Given the description of an element on the screen output the (x, y) to click on. 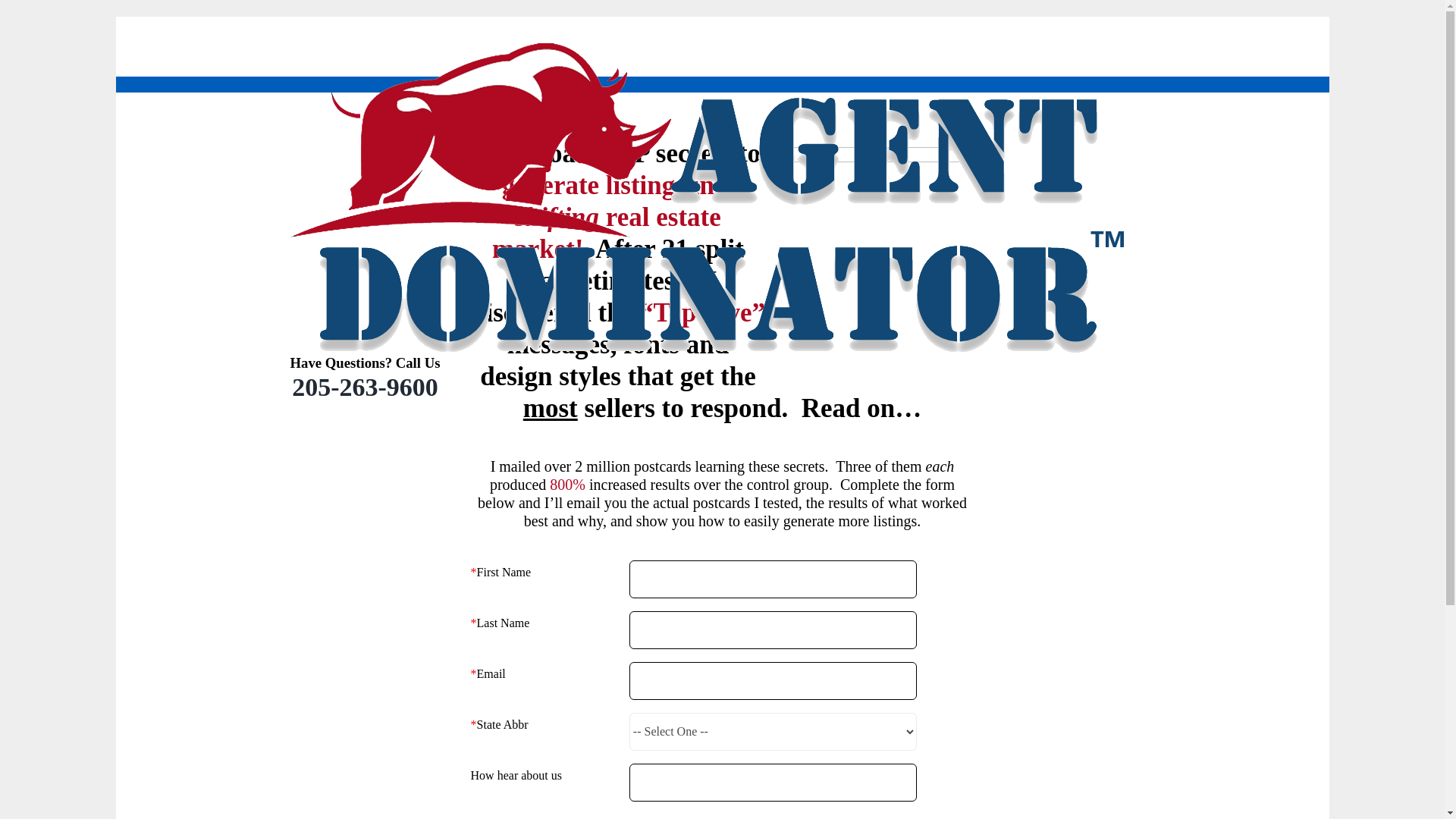
205-263-9600 (364, 386)
